Given the description of an element on the screen output the (x, y) to click on. 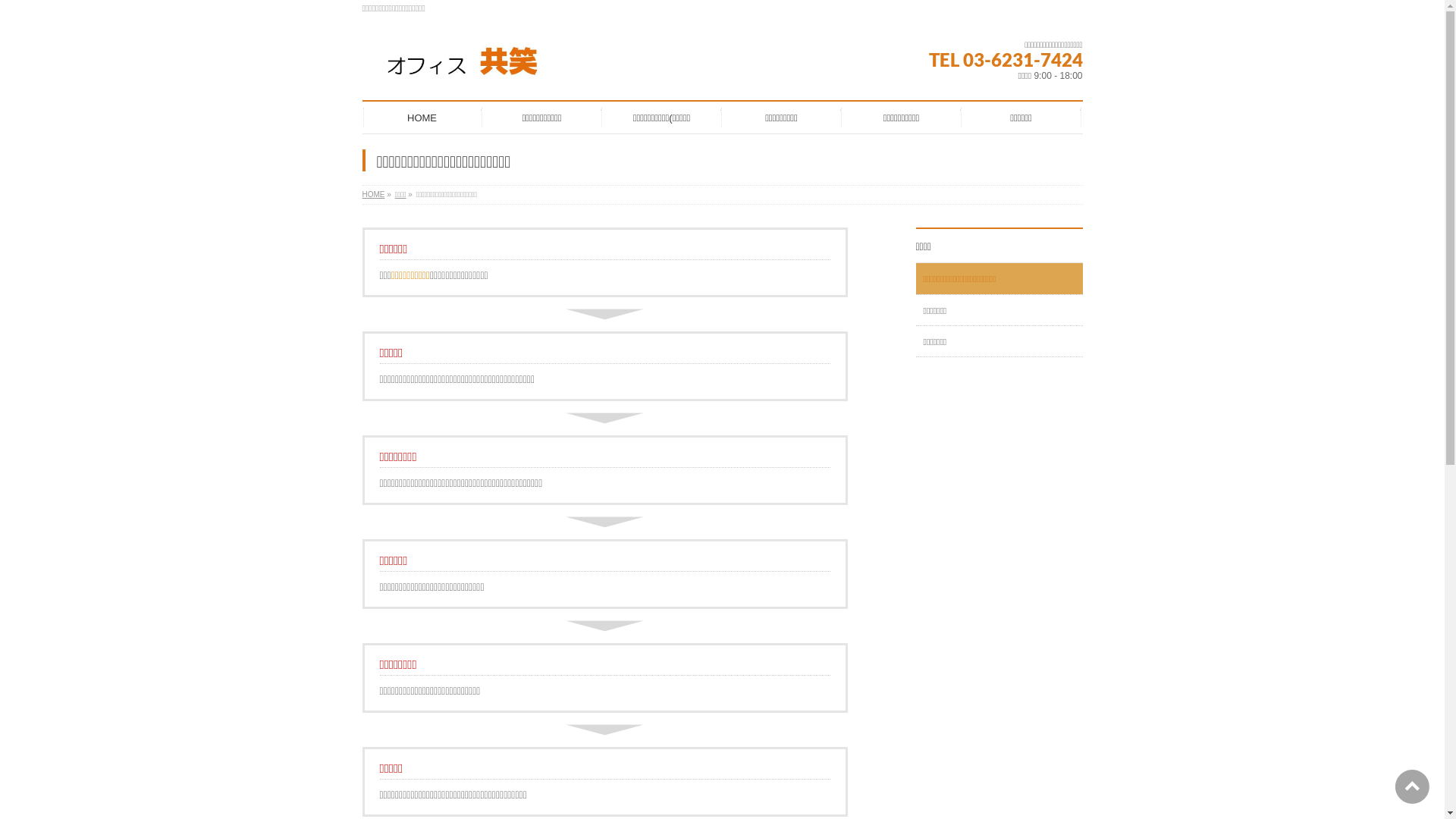
HOME Element type: text (373, 194)
HOME Element type: text (422, 117)
